Given the description of an element on the screen output the (x, y) to click on. 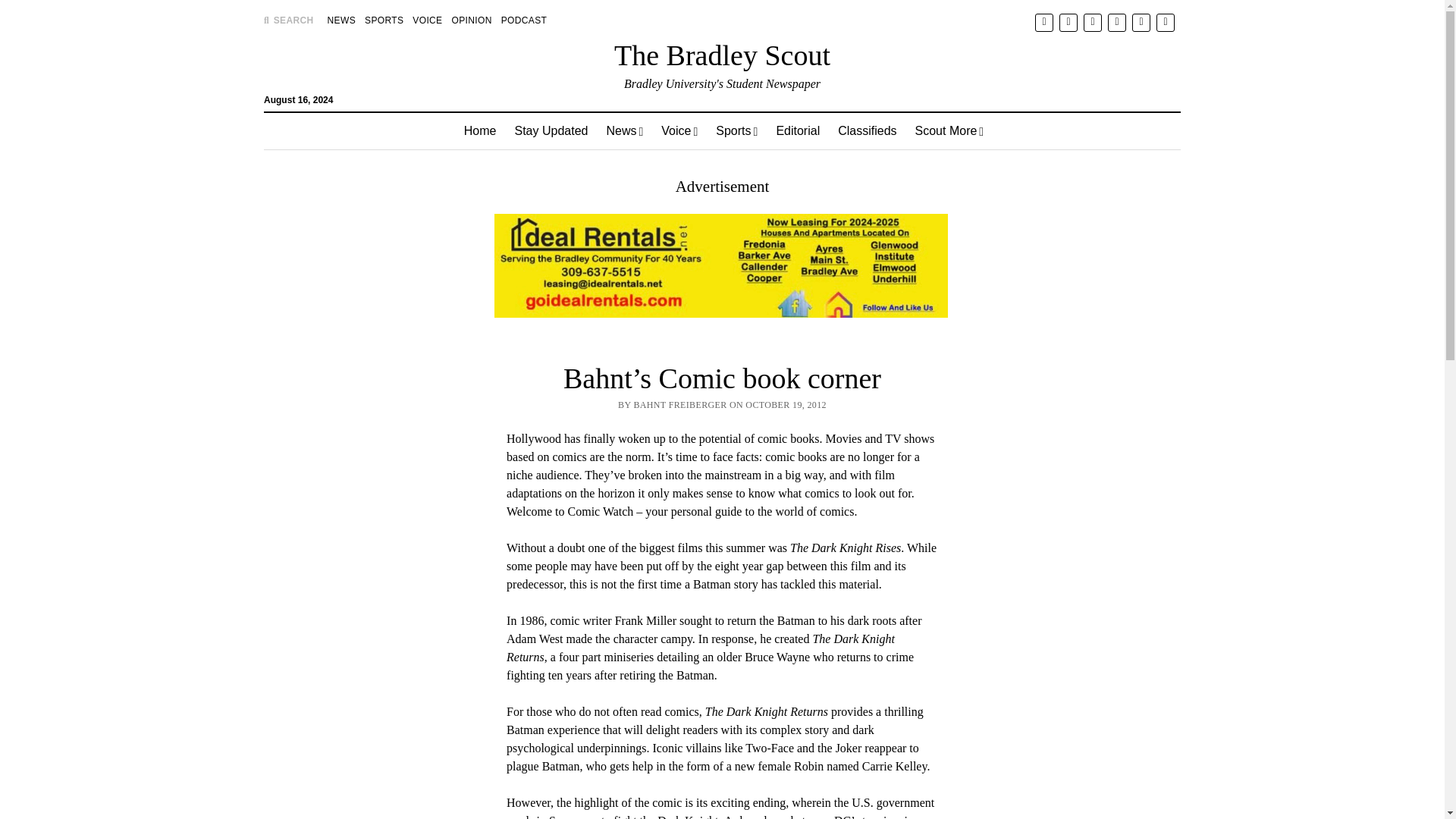
News (624, 131)
The Bradley Scout (721, 55)
SPORTS (384, 20)
Scout More (948, 131)
Sports (736, 131)
Classifieds (866, 131)
Home (479, 131)
NEWS (341, 20)
Voice (679, 131)
Search (945, 129)
